Given the description of an element on the screen output the (x, y) to click on. 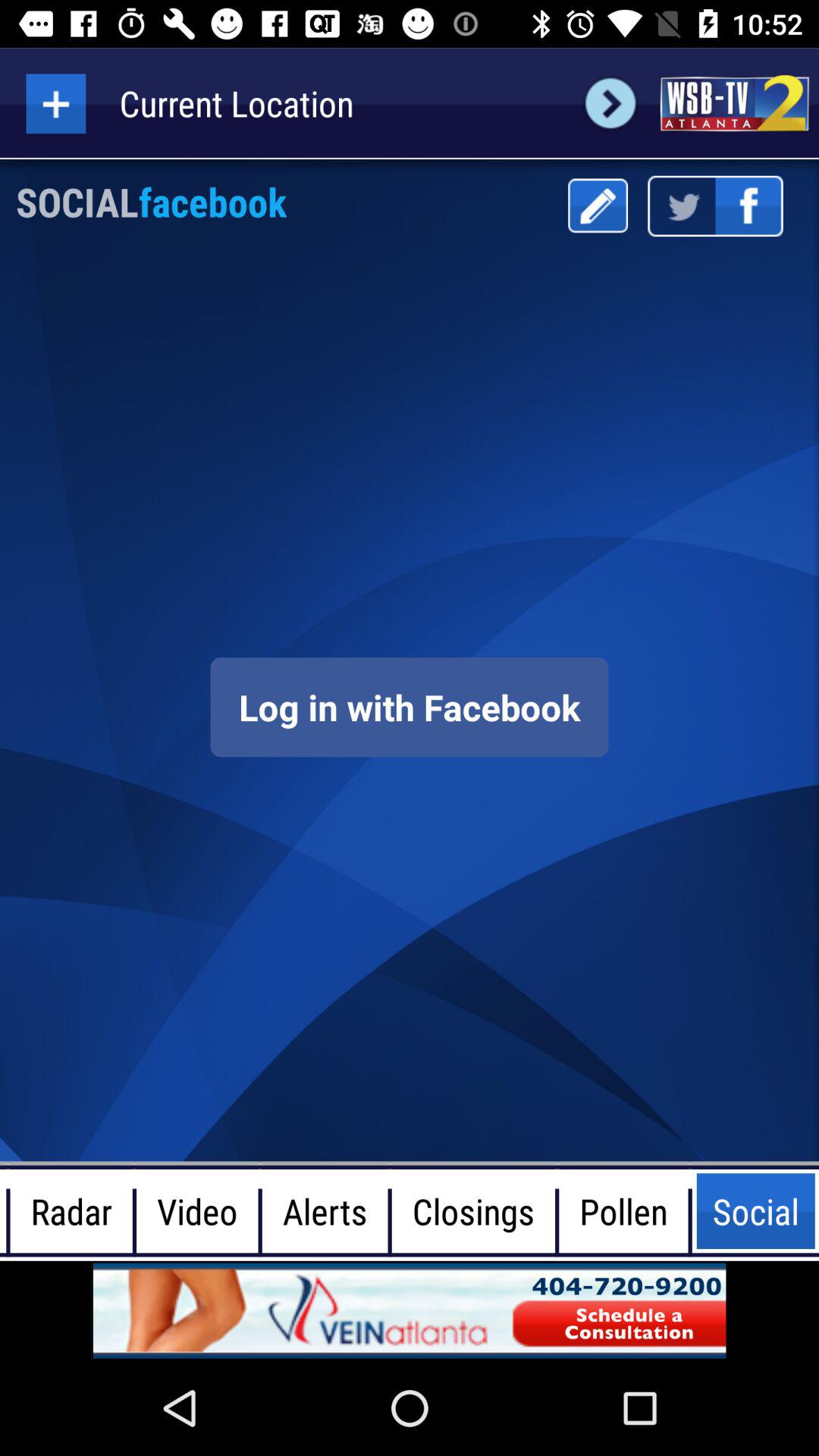
click advertisement (409, 1310)
